Given the description of an element on the screen output the (x, y) to click on. 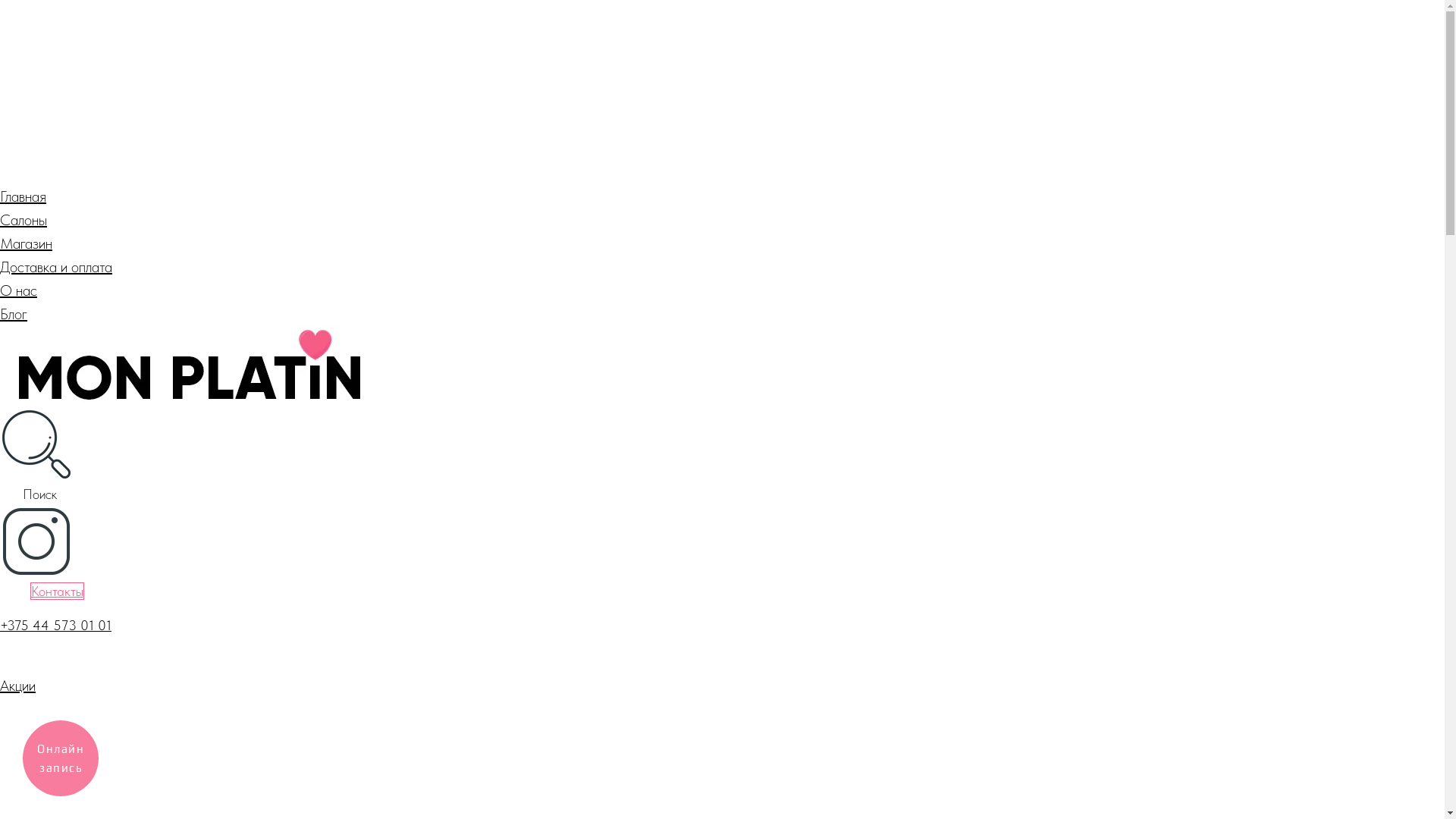
+375 44 573 01 01 Element type: text (55, 625)
